Given the description of an element on the screen output the (x, y) to click on. 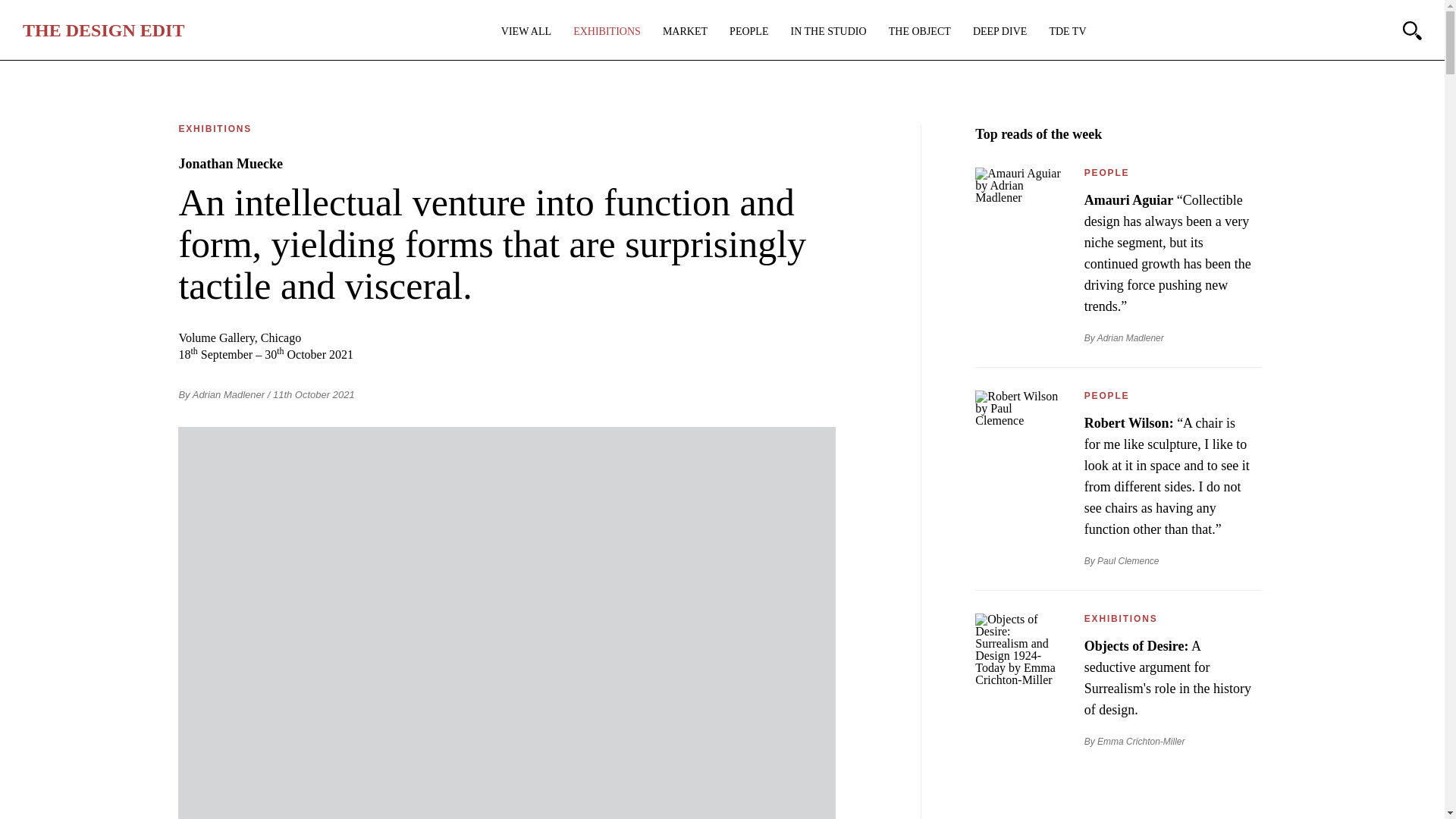
PEOPLE (748, 31)
IN THE STUDIO (828, 31)
Search (1412, 30)
EXHIBITIONS (214, 128)
TDE TV (1067, 31)
MARKET (684, 31)
EXHIBITIONS (606, 31)
By Adrian Madlener (220, 394)
THE DESIGN EDIT (103, 30)
VIEW ALL (525, 31)
THE OBJECT (919, 31)
DEEP DIVE (999, 31)
